Given the description of an element on the screen output the (x, y) to click on. 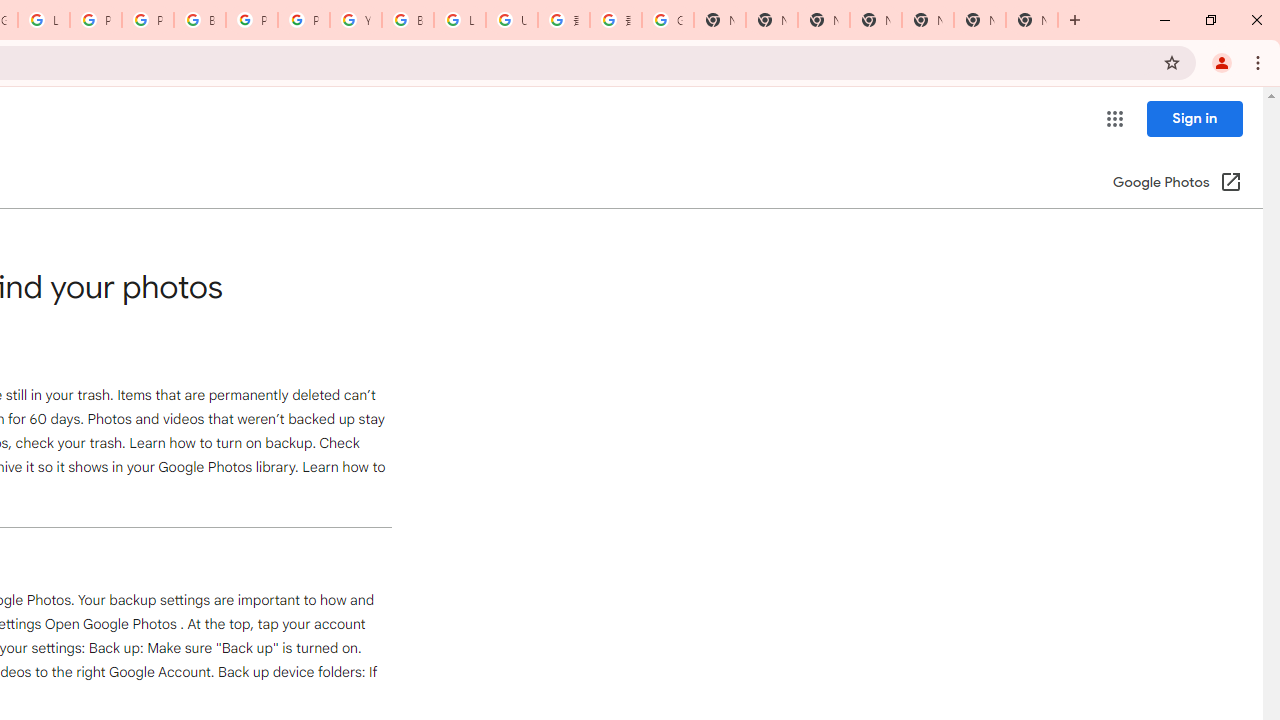
Google Images (667, 20)
New Tab (1032, 20)
Google Photos (Open in a new window) (1177, 183)
Privacy Help Center - Policies Help (95, 20)
